Given the description of an element on the screen output the (x, y) to click on. 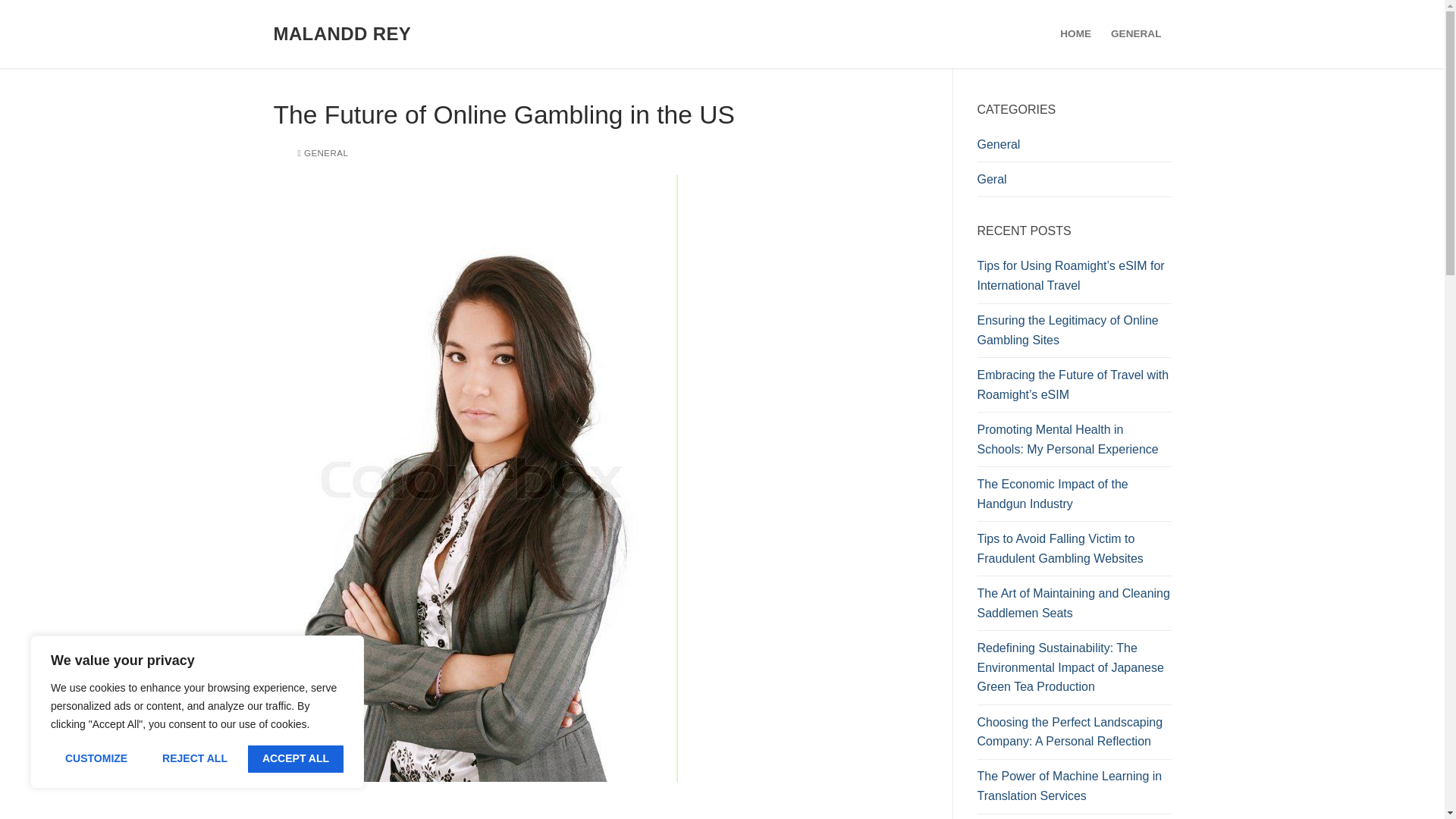
Ensuring the Legitimacy of Online Gambling Sites (1073, 334)
MALANDD REY (341, 33)
General (1073, 148)
CUSTOMIZE (95, 759)
ACCEPT ALL (295, 759)
Promoting Mental Health in Schools: My Personal Experience (1073, 443)
Geral (1073, 183)
REJECT ALL (194, 759)
The Economic Impact of the Handgun Industry (1073, 498)
GENERAL (322, 153)
GENERAL (1135, 33)
